Given the description of an element on the screen output the (x, y) to click on. 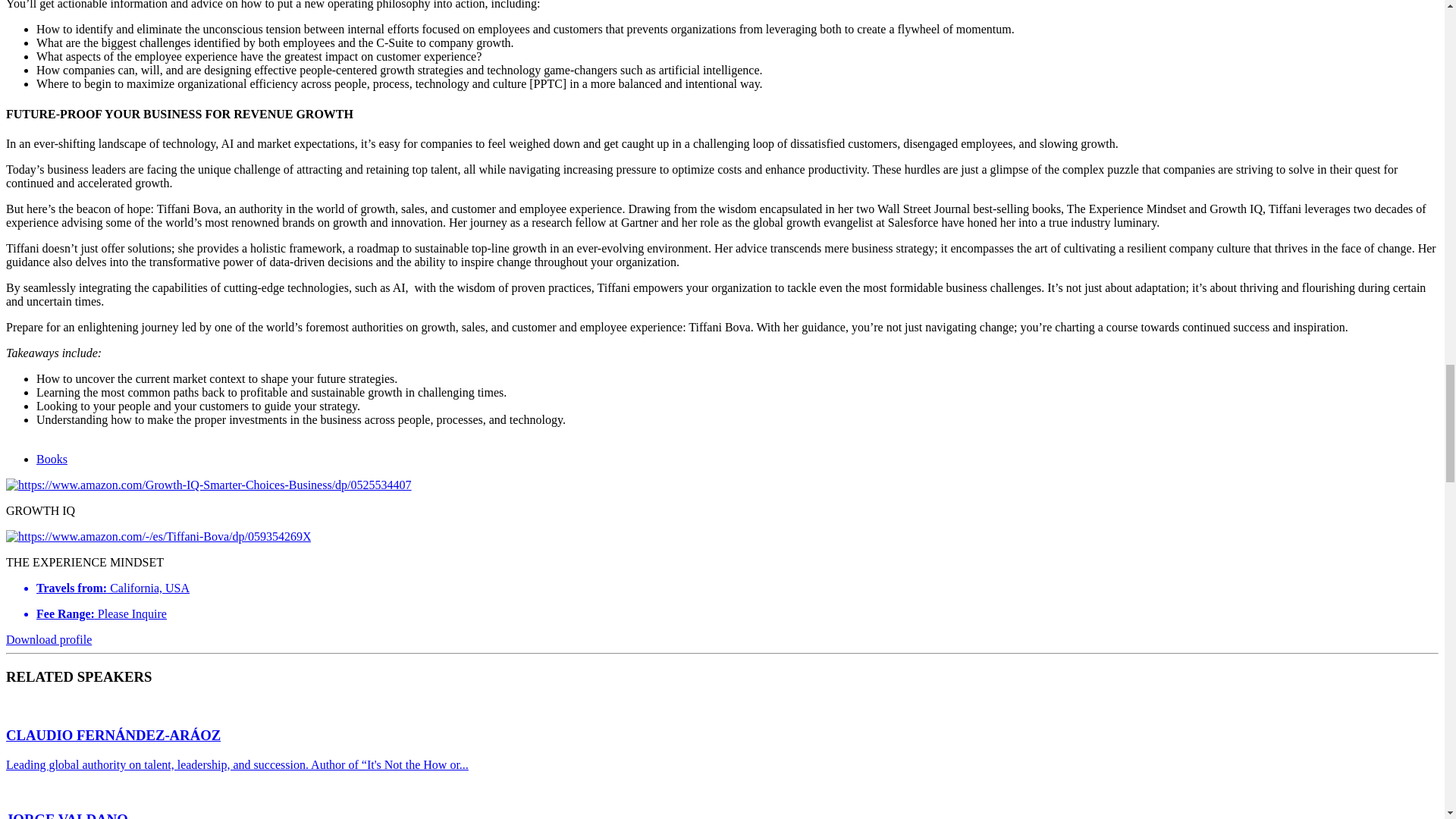
The Experience Mindset (158, 536)
Growth IQ (208, 485)
